Given the description of an element on the screen output the (x, y) to click on. 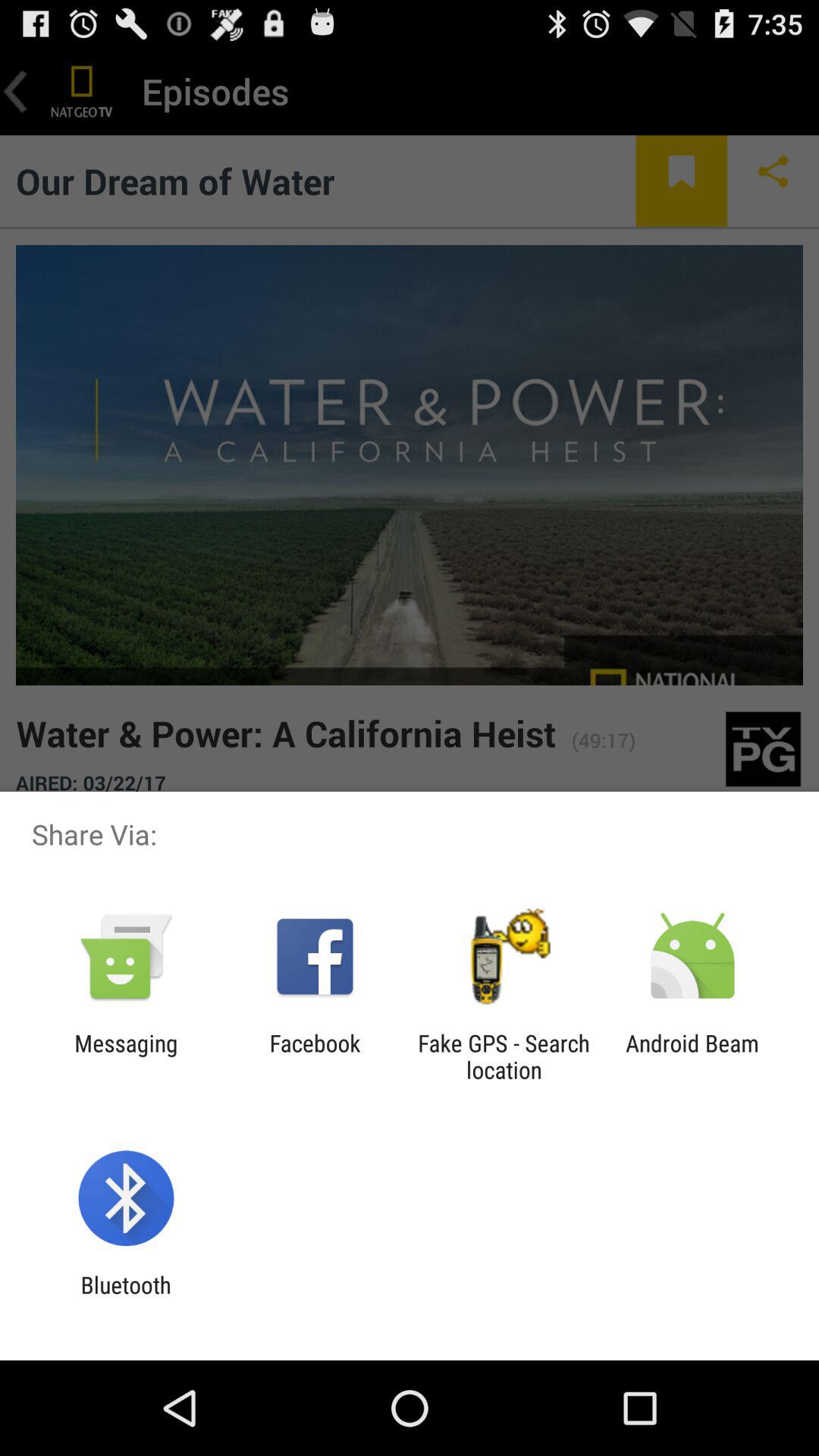
choose the facebook item (314, 1056)
